Given the description of an element on the screen output the (x, y) to click on. 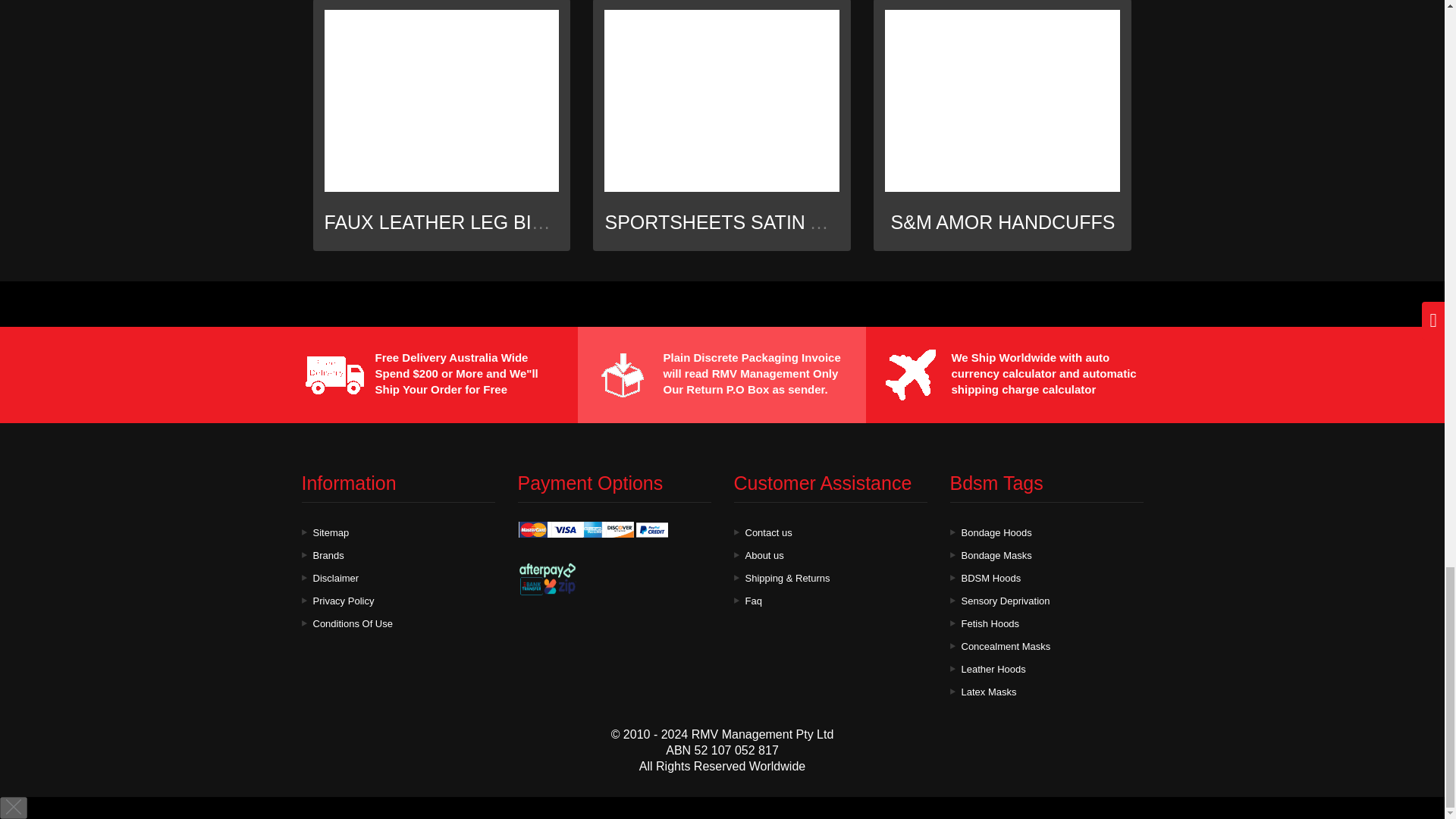
FAUX LEATHER LEG BINDER (454, 221)
SPORTSHEETS SATIN AND LACE BONDAGE LOVERS KIT (862, 221)
Sitemap (331, 532)
